Given the description of an element on the screen output the (x, y) to click on. 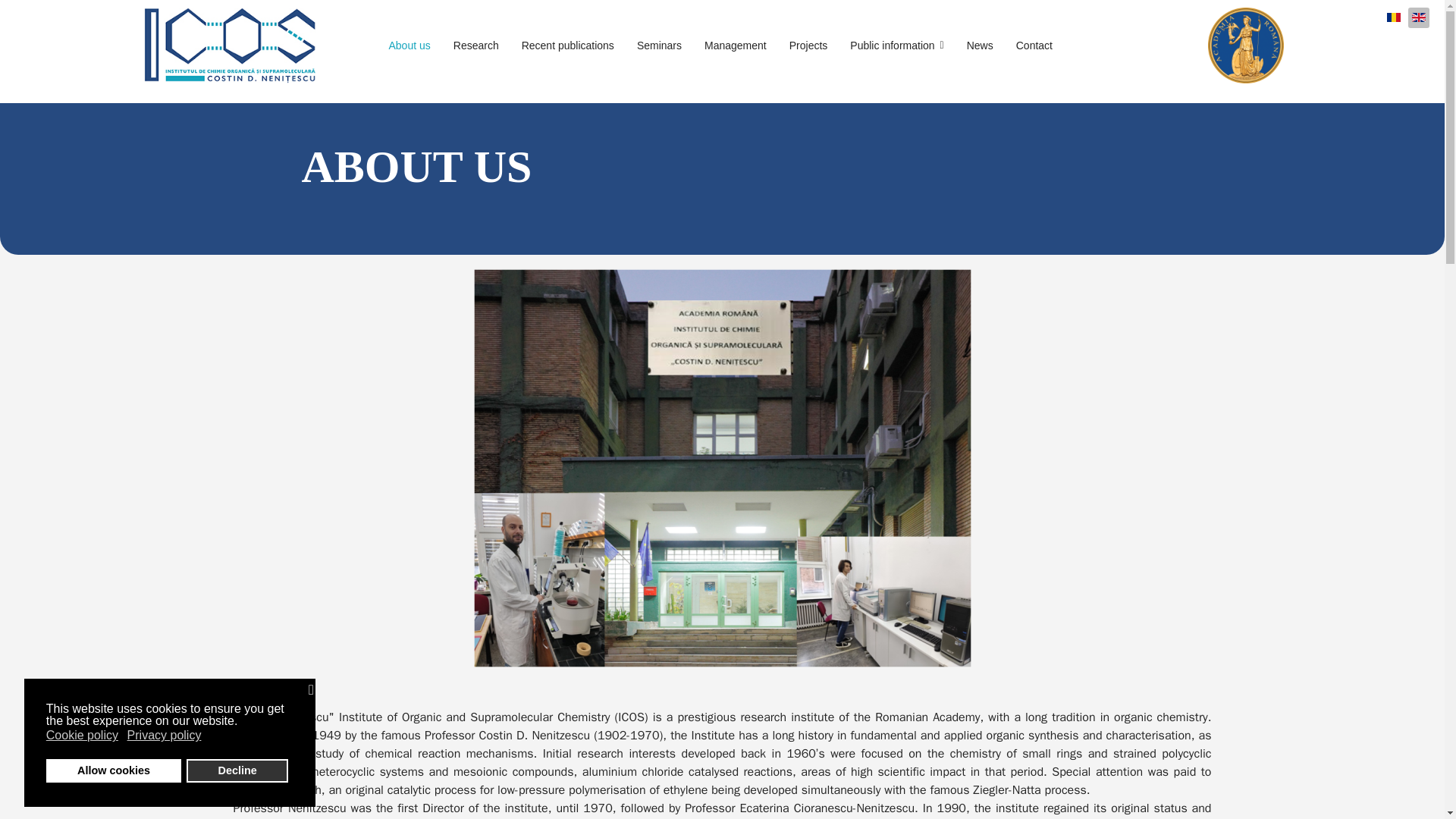
Allow cookies (113, 770)
Decline (237, 770)
Recent publications (568, 45)
Seminars (659, 45)
Research (476, 45)
Public information (896, 45)
Cookie policy (83, 735)
Privacy policy (165, 735)
Management (735, 45)
